Given the description of an element on the screen output the (x, y) to click on. 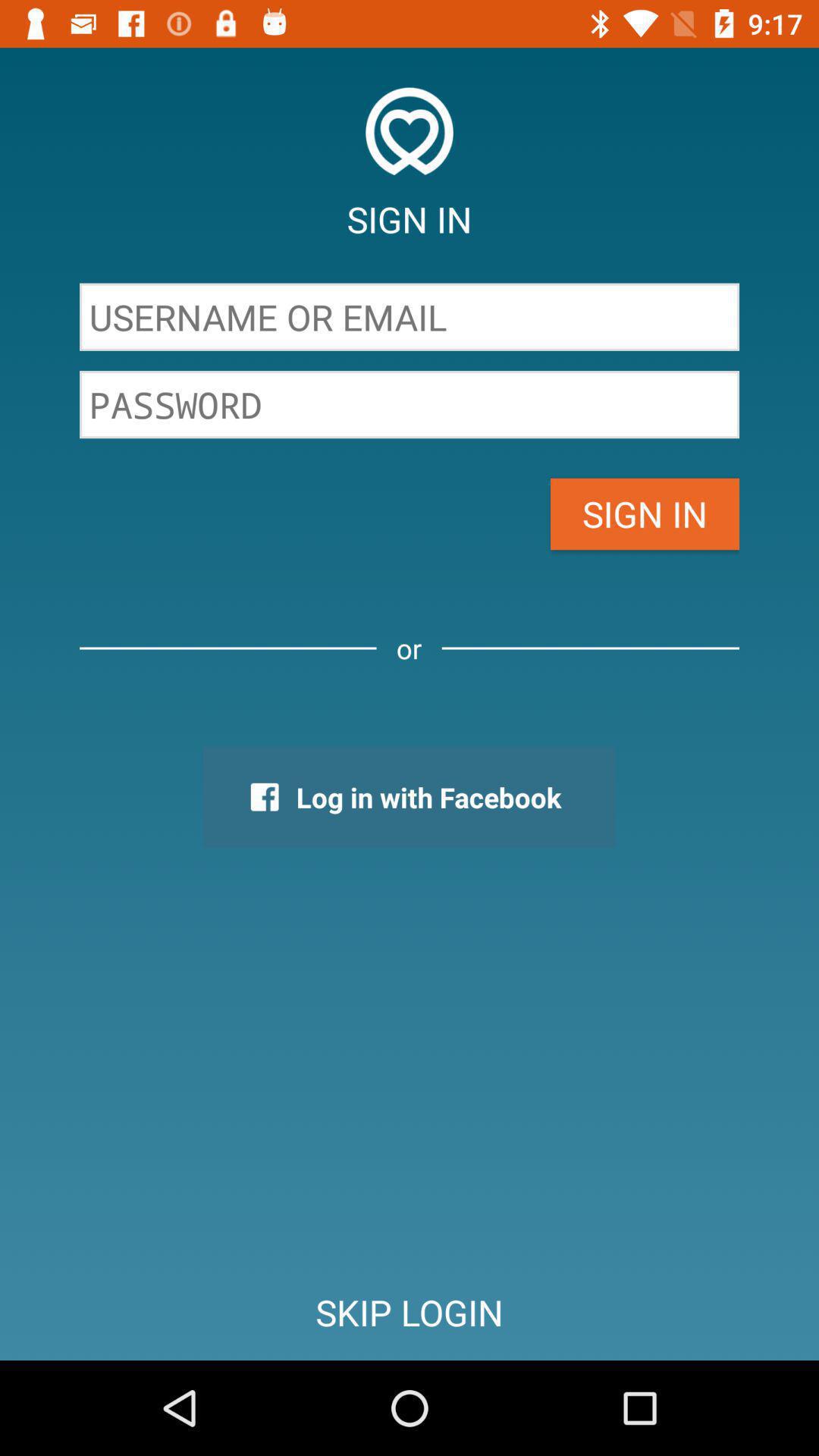
choose icon above the sign in item (409, 404)
